Given the description of an element on the screen output the (x, y) to click on. 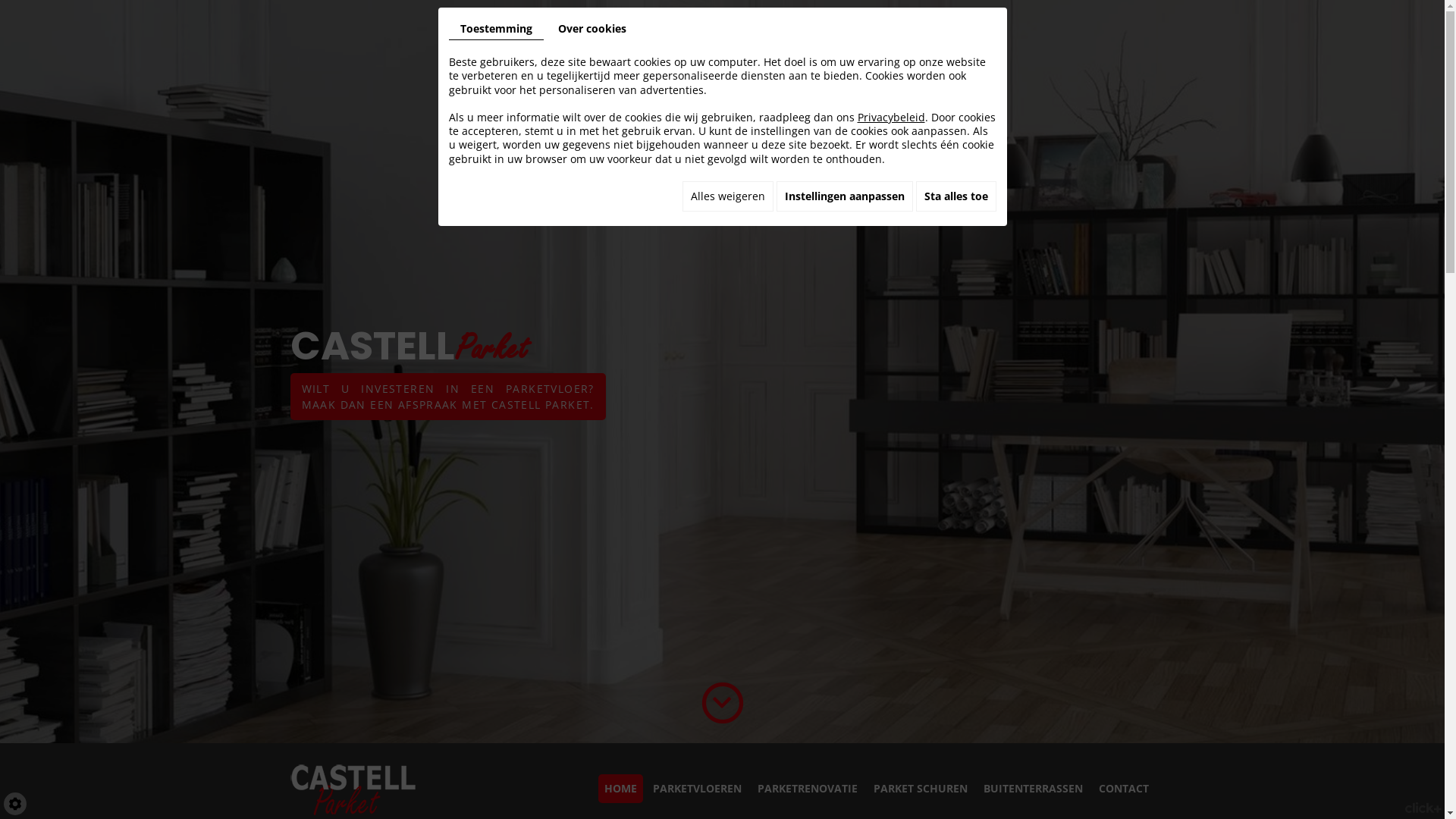
Instellingen aanpassen Element type: text (844, 196)
Sta alles toe Element type: text (956, 196)
BUITENTERRASSEN Element type: text (1032, 788)
HOME Element type: text (619, 788)
PARKET SCHUREN Element type: text (920, 788)
Over cookies Element type: text (591, 28)
Castell Parket Element type: hover (353, 786)
Cookie-instelling bewerken Element type: text (14, 803)
Toestemming Element type: text (495, 29)
PARKETVLOEREN Element type: text (696, 788)
CONTACT Element type: text (1123, 788)
CASTELLParket Element type: text (408, 345)
Alles weigeren Element type: text (727, 196)
PARKETRENOVATIE Element type: text (806, 788)
Privacybeleid Element type: text (890, 116)
